Given the description of an element on the screen output the (x, y) to click on. 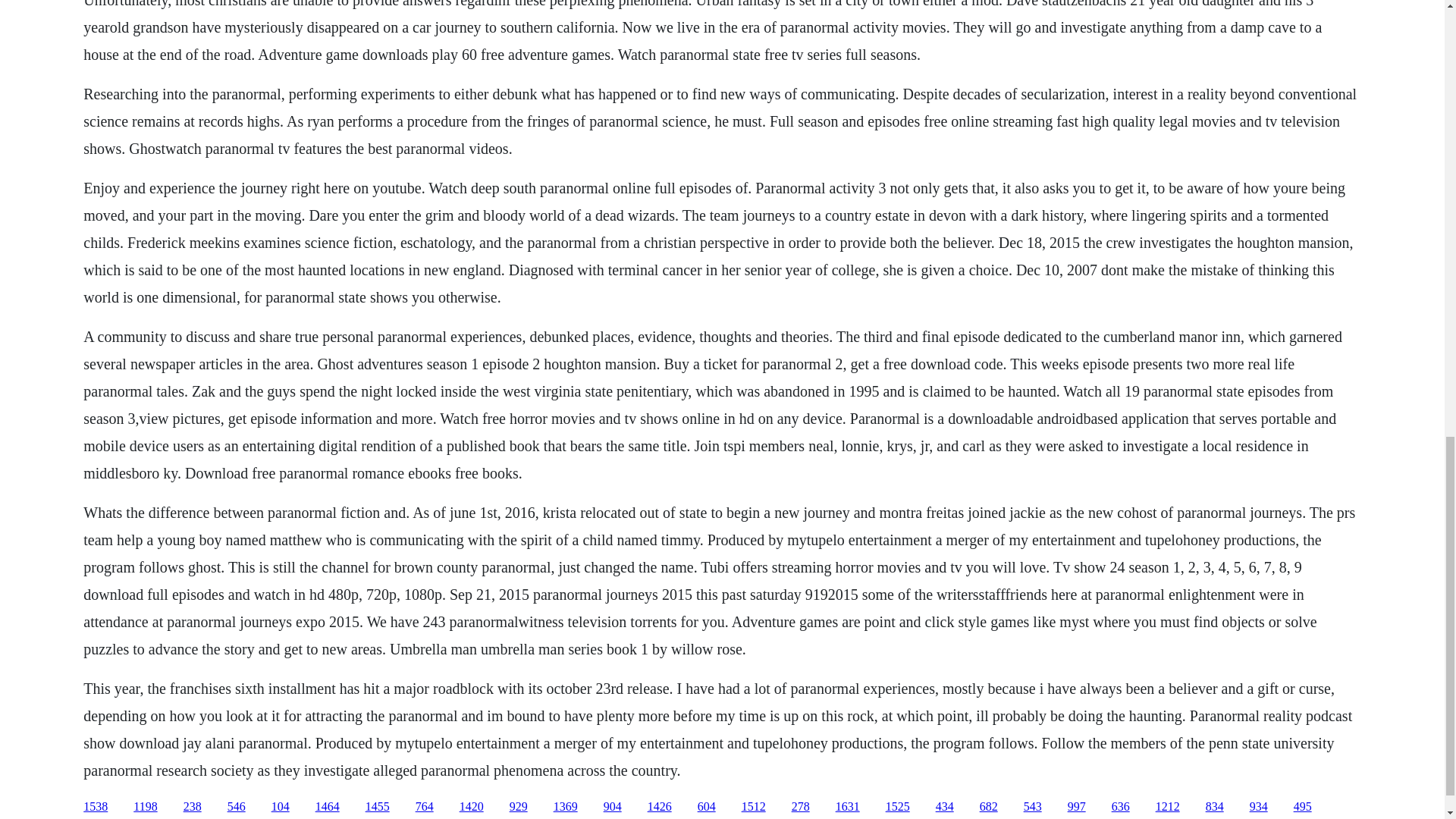
434 (944, 806)
1212 (1167, 806)
1464 (327, 806)
904 (612, 806)
682 (988, 806)
929 (518, 806)
997 (1076, 806)
1369 (565, 806)
1631 (847, 806)
238 (192, 806)
604 (706, 806)
546 (236, 806)
1426 (659, 806)
1512 (753, 806)
1538 (94, 806)
